Given the description of an element on the screen output the (x, y) to click on. 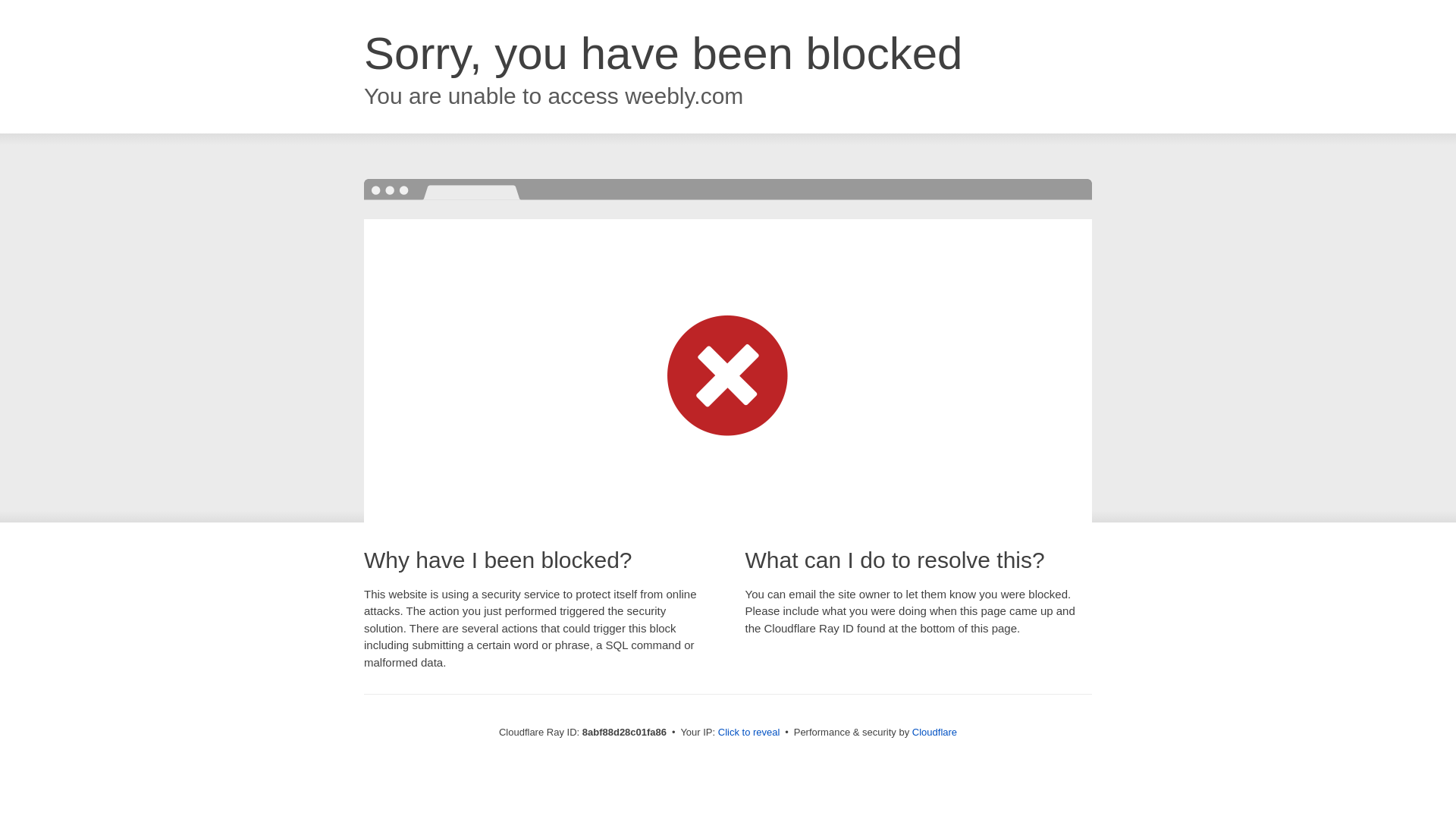
Click to reveal (748, 732)
Cloudflare (934, 731)
